Given the description of an element on the screen output the (x, y) to click on. 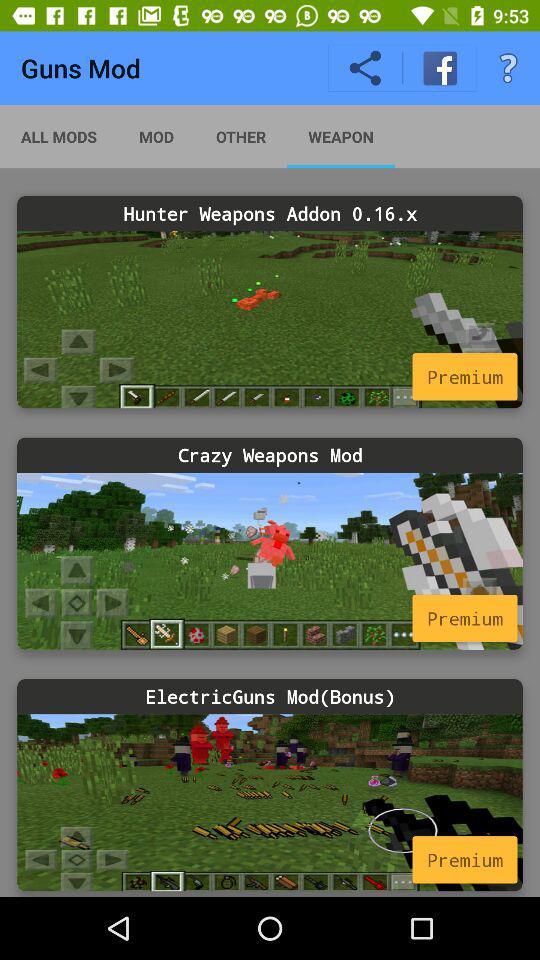
select this weapon (269, 802)
